Given the description of an element on the screen output the (x, y) to click on. 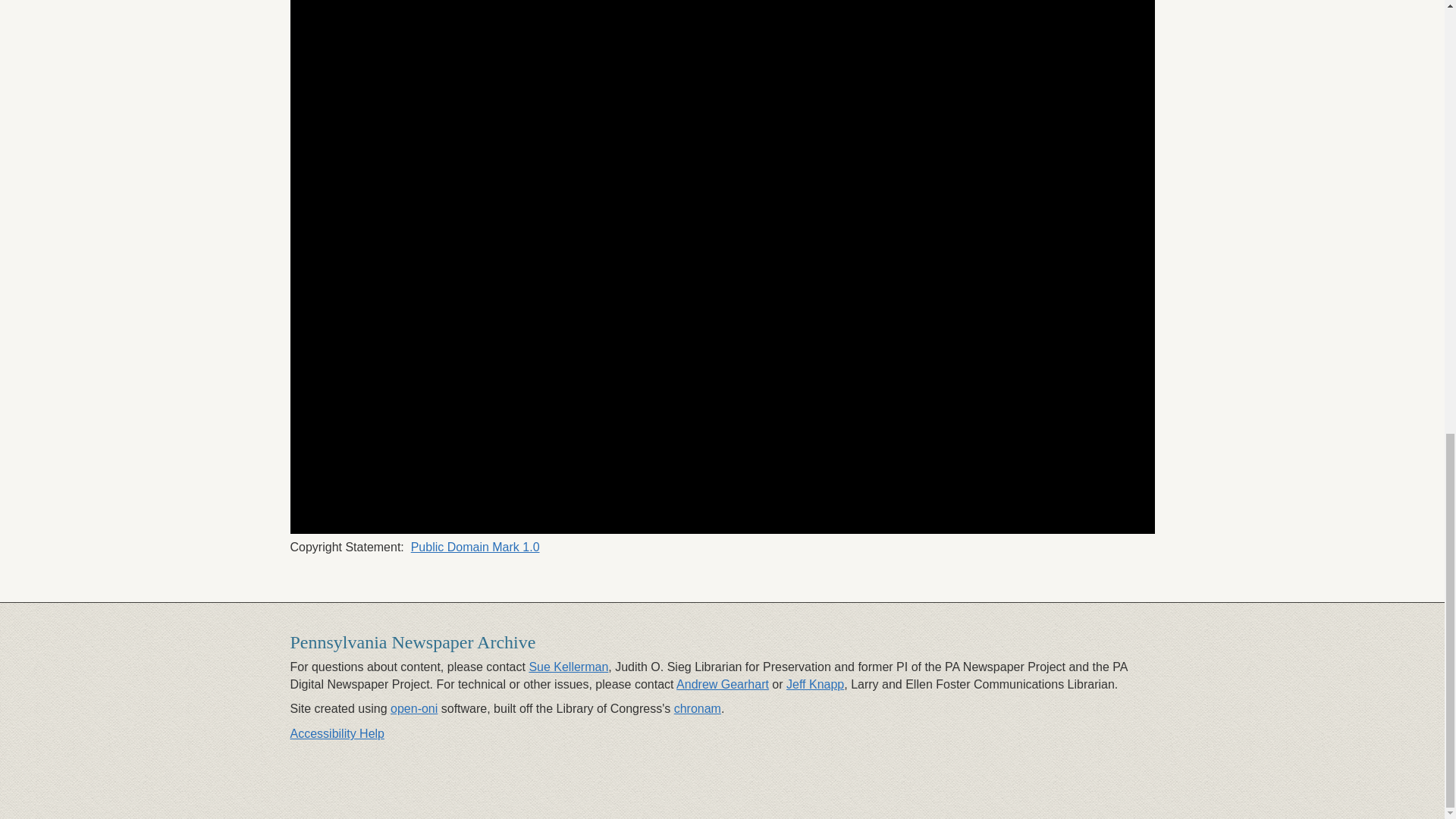
Sue Kellerman (568, 666)
open-oni (414, 707)
Public Domain Mark 1.0 (475, 546)
Jeff Knapp (815, 684)
Andrew Gearhart (722, 684)
Accessibility Help (336, 733)
chronam (697, 707)
